Given the description of an element on the screen output the (x, y) to click on. 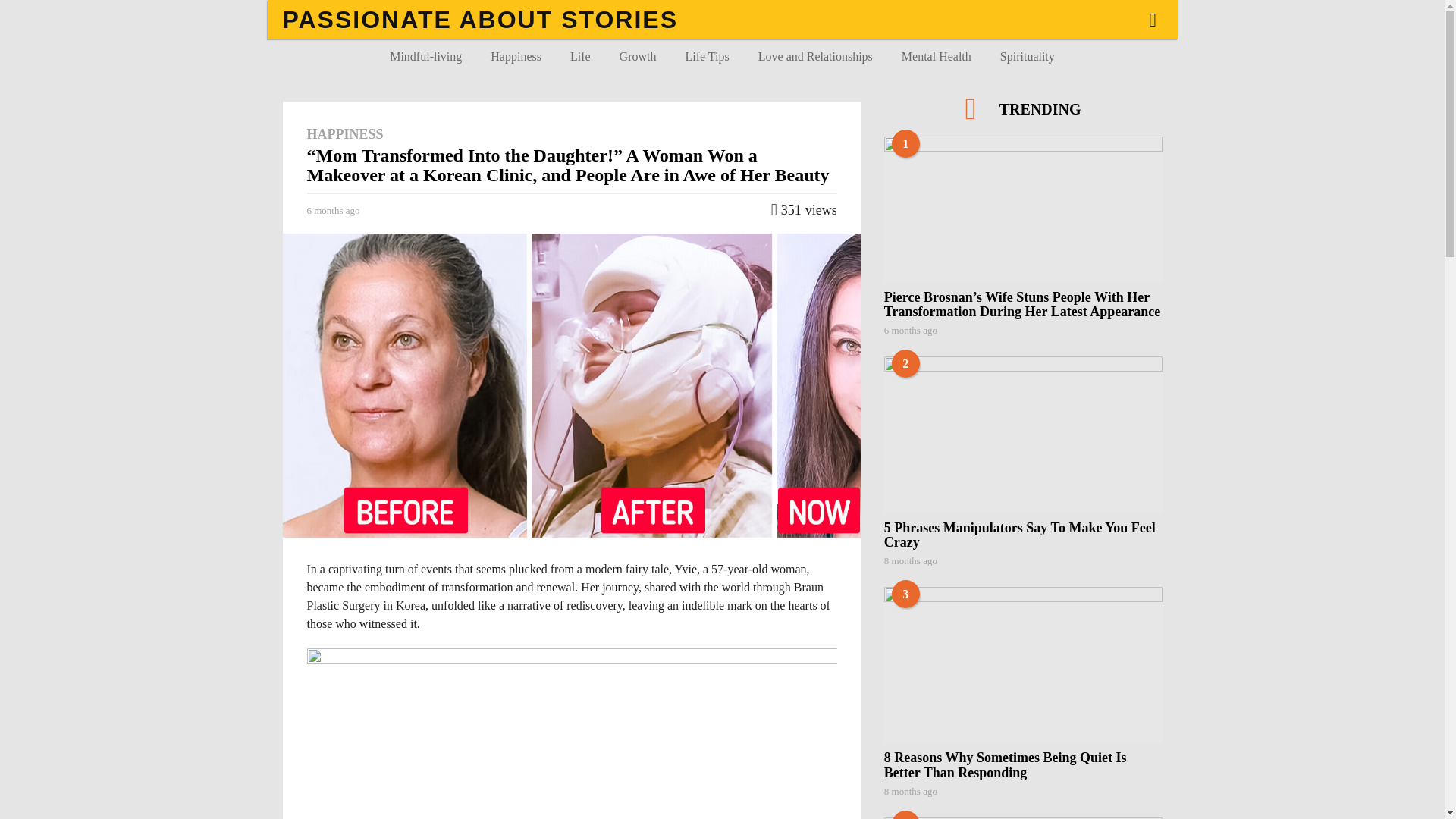
Happiness (516, 56)
Spirituality (1026, 56)
Mental Health (935, 56)
Life (580, 56)
Mental Health (935, 56)
Life Tips (705, 56)
Spirituality (1026, 56)
PASSIONATE ABOUT STORIES (480, 19)
Happiness (516, 56)
Life Tips (705, 56)
